Given the description of an element on the screen output the (x, y) to click on. 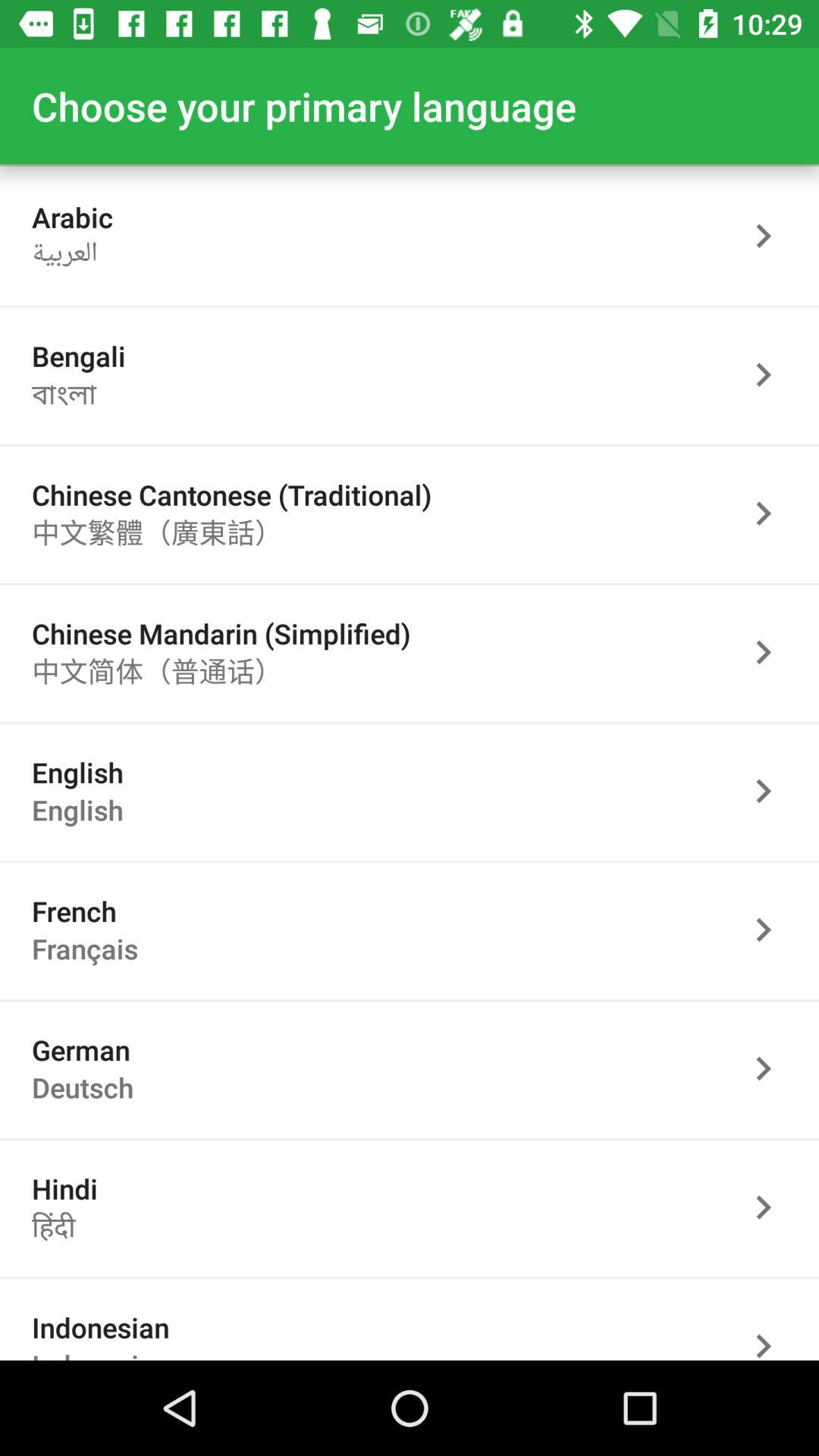
go next page (771, 374)
